Given the description of an element on the screen output the (x, y) to click on. 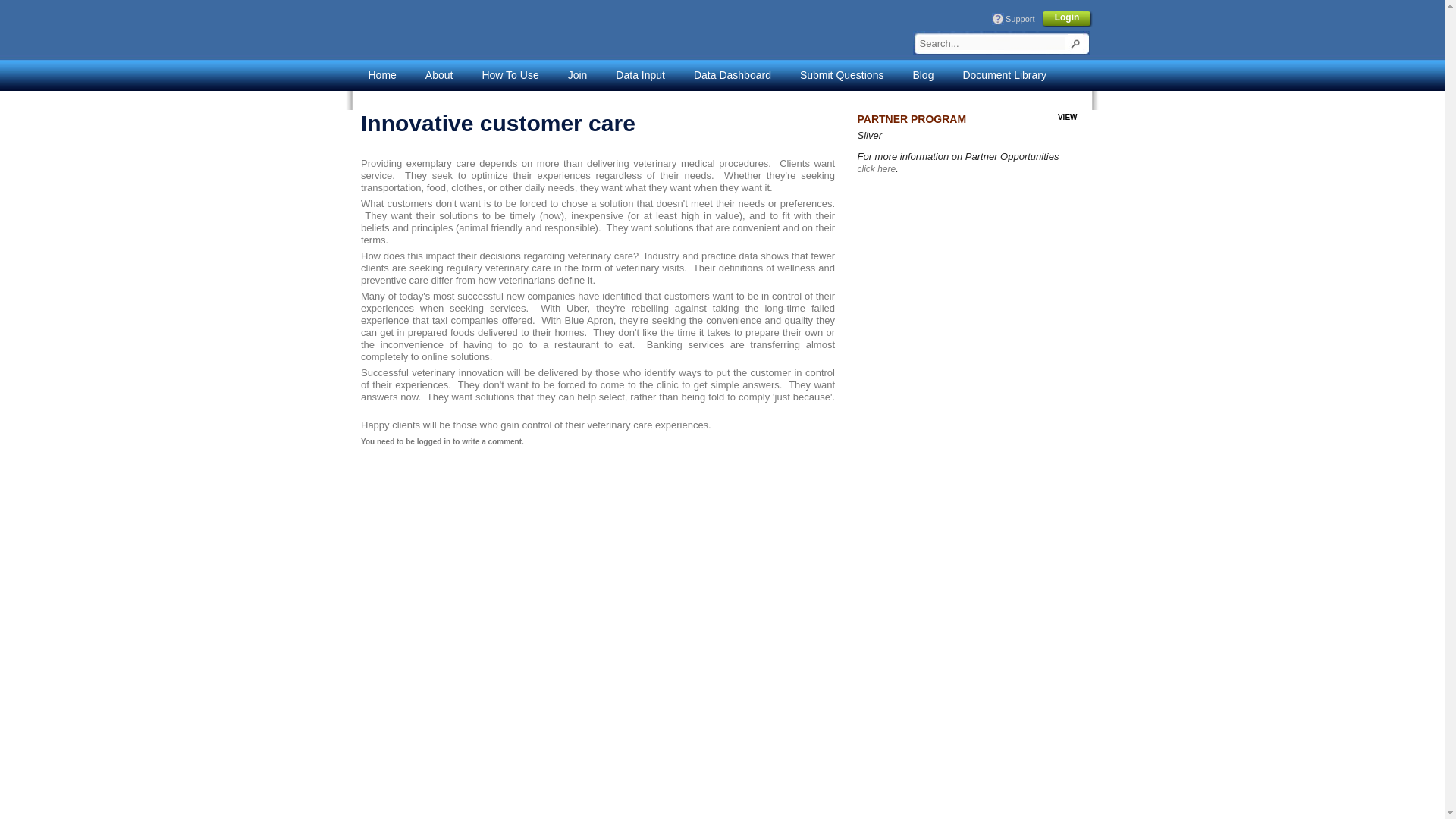
VIEW (1067, 117)
How To Use (509, 74)
Support (1018, 18)
Data Dashboard (731, 74)
Home (382, 74)
Submit Questions (842, 74)
Join (577, 74)
Document Library (1004, 74)
Data Input (640, 74)
About (439, 74)
Blog (922, 74)
click here (876, 168)
